Given the description of an element on the screen output the (x, y) to click on. 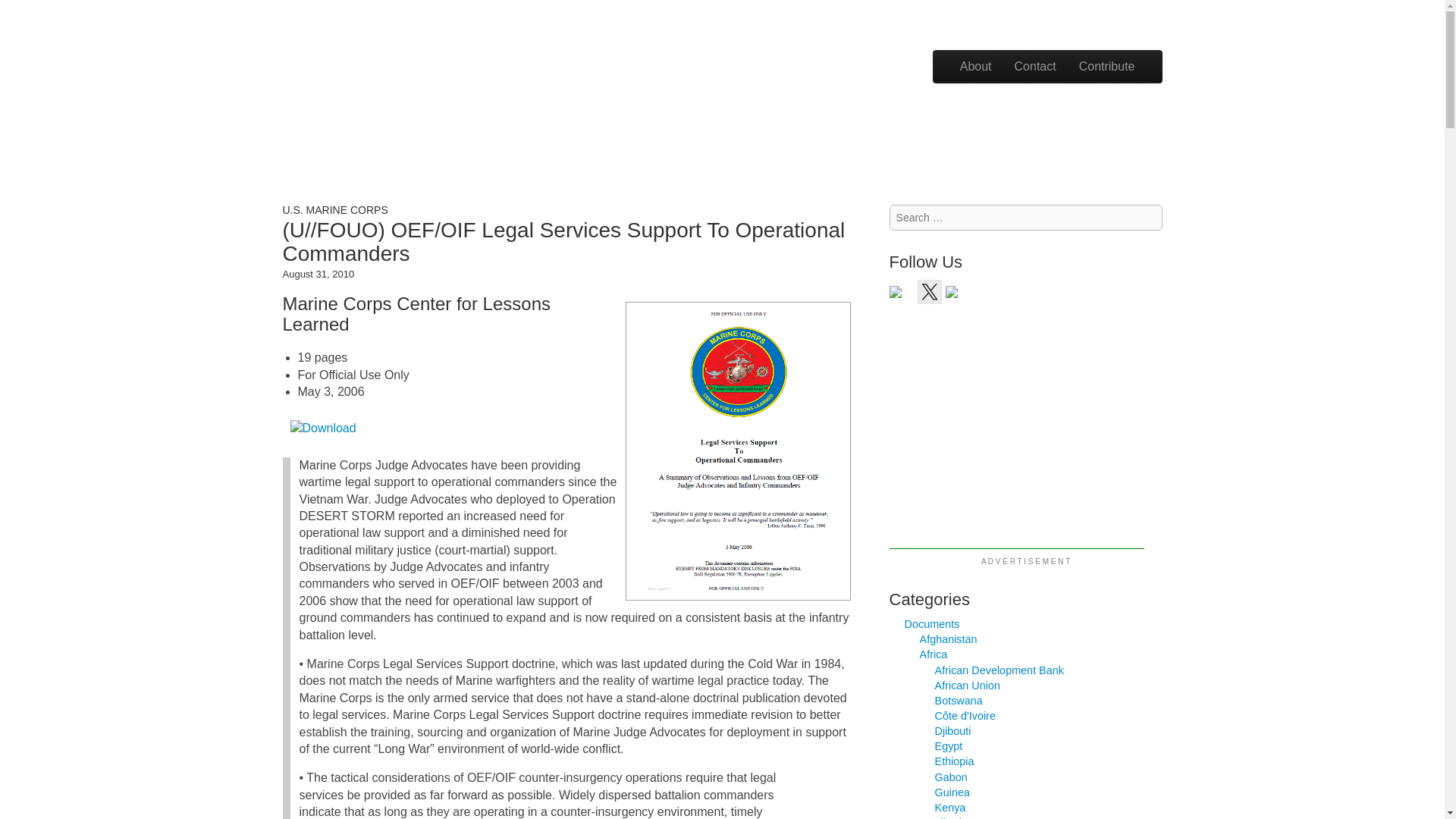
Liberia (951, 817)
Search (28, 11)
Gabon (951, 776)
Follow us on Facebook (901, 297)
U.S. MARINE CORPS (334, 209)
African Union (967, 685)
Contribute (1107, 66)
Afghanistan (948, 639)
About (976, 66)
Egypt (948, 746)
